Given the description of an element on the screen output the (x, y) to click on. 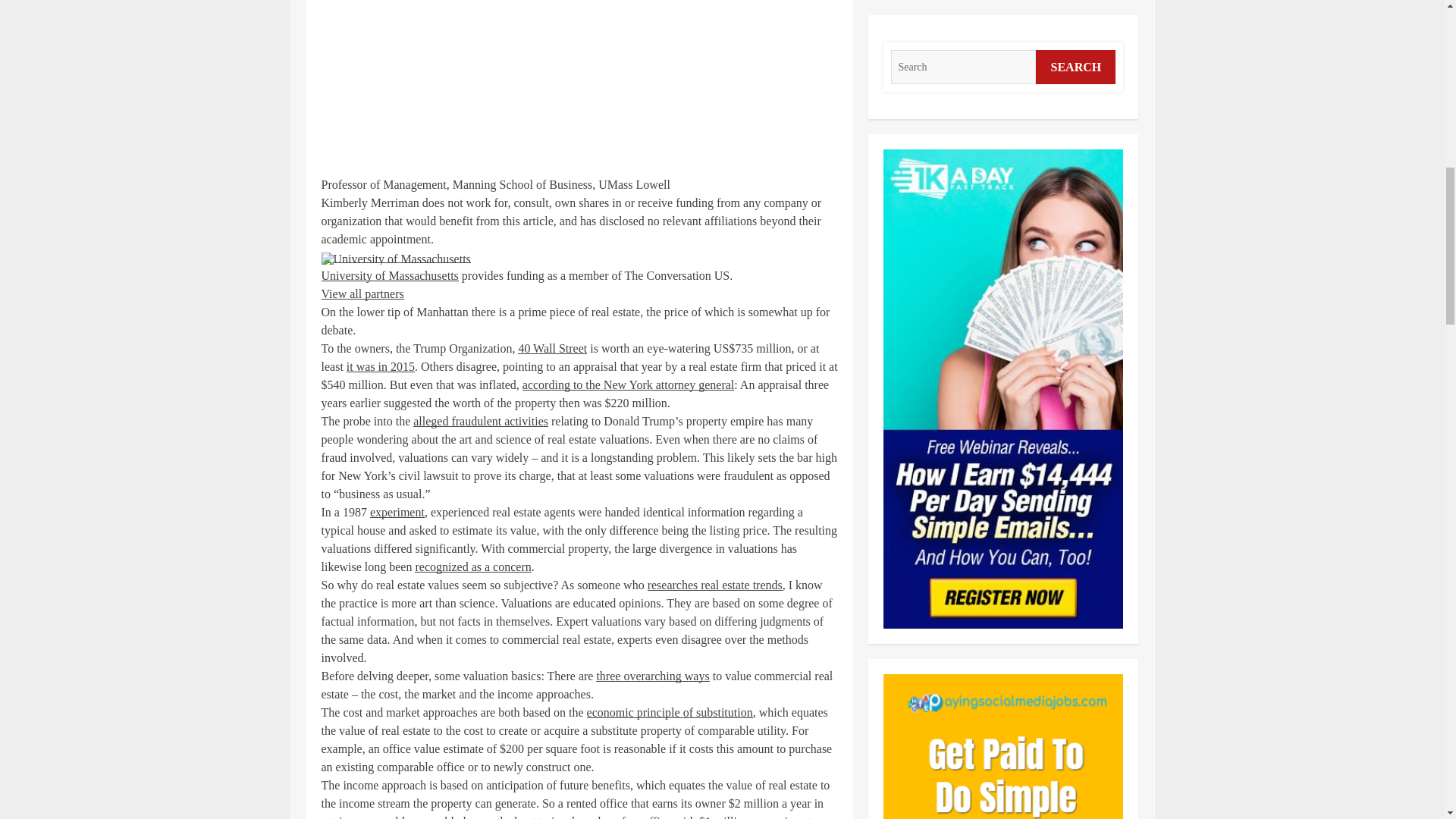
according to the New York attorney general (627, 384)
University of Massachusetts (389, 275)
View all partners (362, 293)
alleged fraudulent activities (480, 420)
experiment (397, 512)
it was in 2015 (380, 366)
40 Wall Street (552, 348)
